Given the description of an element on the screen output the (x, y) to click on. 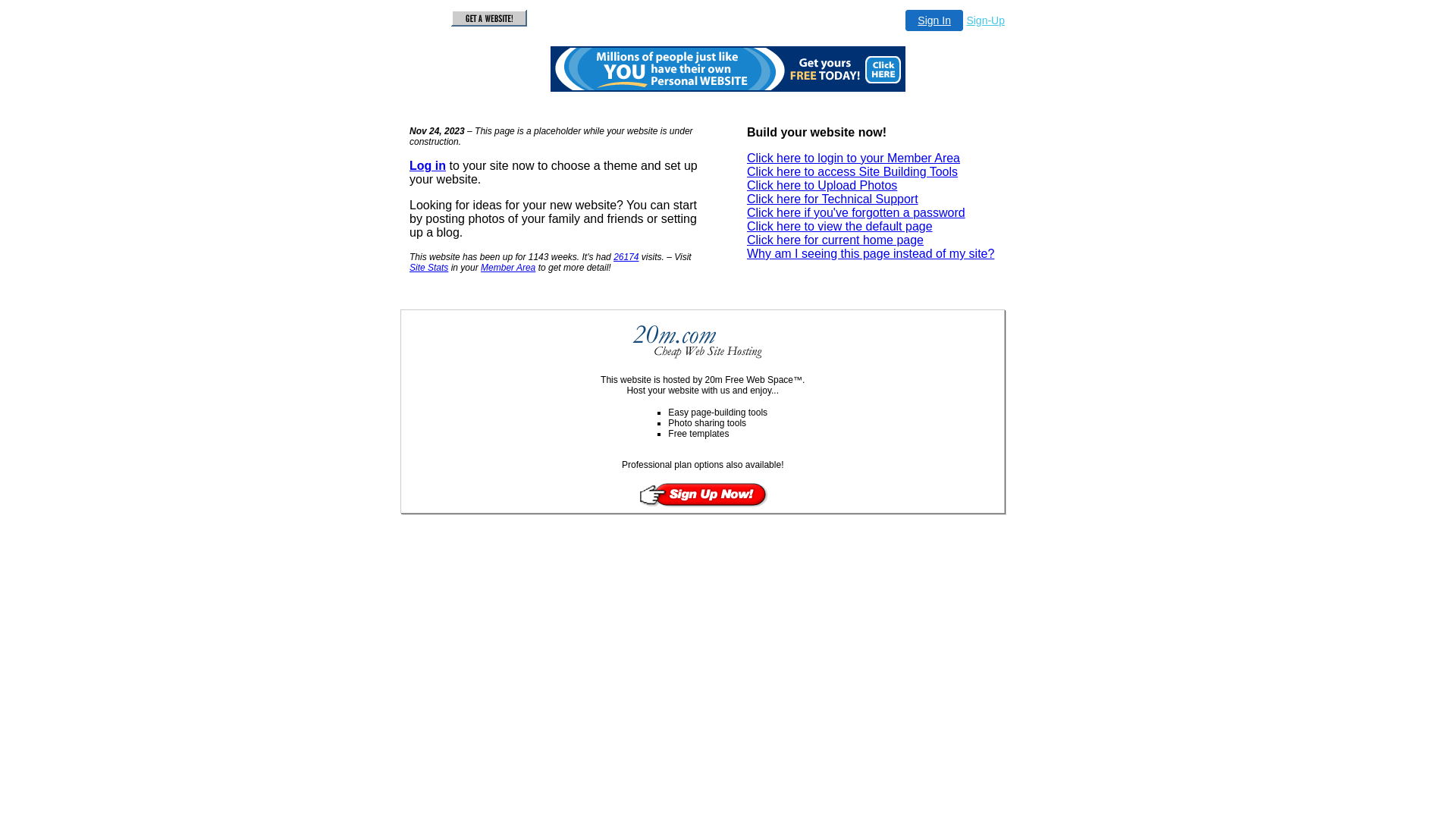
Click here for current home page Element type: text (834, 239)
Click here to view the default page Element type: text (839, 225)
Click here for Technical Support Element type: text (832, 198)
Sign In Element type: text (934, 20)
Member Area Element type: text (507, 267)
Click here if you've forgotten a password Element type: text (855, 212)
Click here to login to your Member Area Element type: text (853, 157)
Site Stats Element type: text (428, 267)
Sign-Up Element type: text (985, 20)
Why am I seeing this page instead of my site? Element type: text (870, 253)
26174 Element type: text (625, 256)
Click here to access Site Building Tools Element type: text (851, 171)
Click here to Upload Photos Element type: text (821, 184)
Log in Element type: text (427, 165)
